Given the description of an element on the screen output the (x, y) to click on. 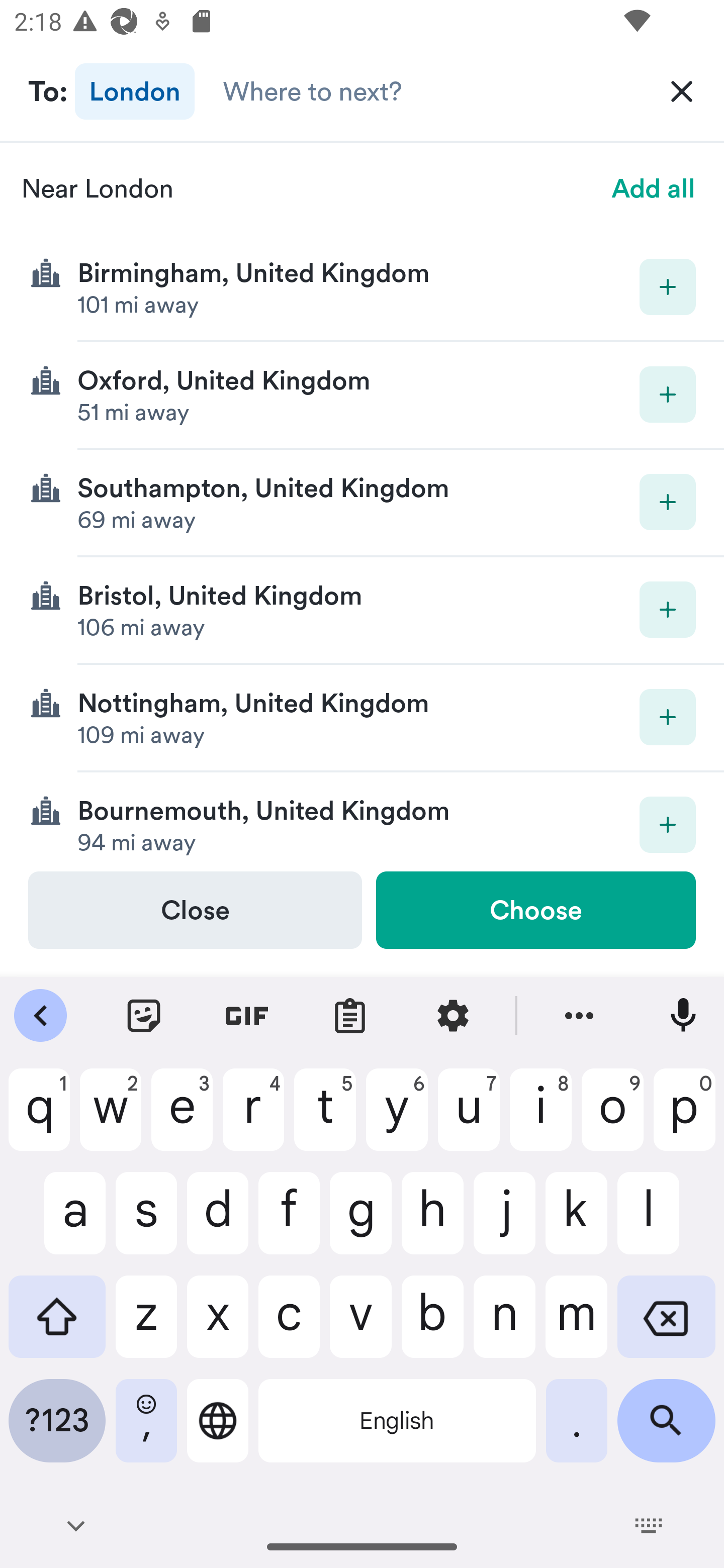
London (134, 90)
Clear All (681, 90)
Add all (653, 187)
Add destination (667, 286)
Add destination Oxford, United Kingdom 51 mi away (362, 395)
Add destination (667, 394)
Add destination (667, 501)
Add destination (667, 609)
Add destination (667, 716)
Add destination (667, 824)
Close (195, 909)
Choose (535, 909)
